Given the description of an element on the screen output the (x, y) to click on. 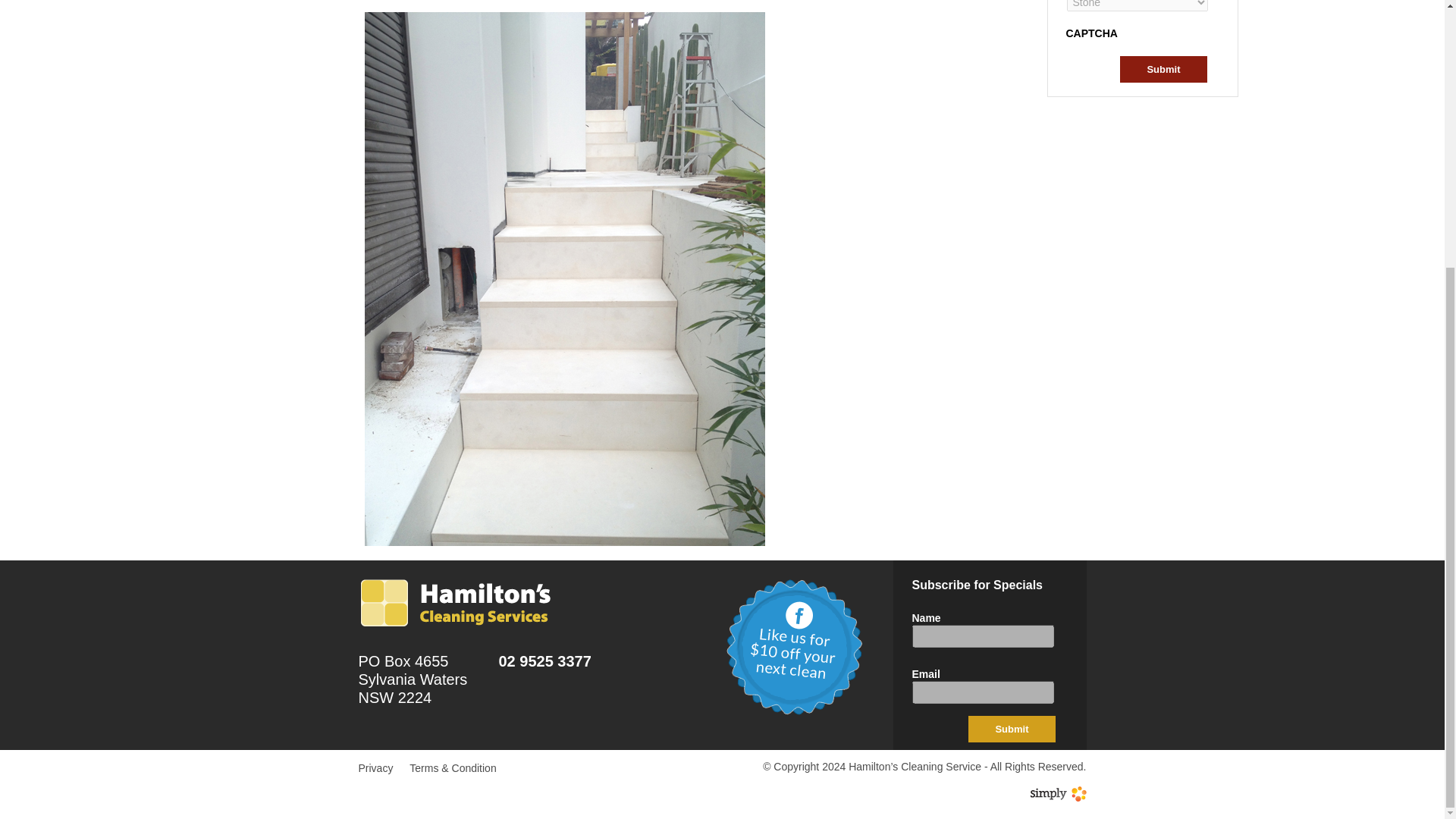
02 9525 3377 (545, 660)
Submit (1011, 728)
Submit (1163, 69)
Submit (1163, 69)
Privacy (375, 767)
Submit (1011, 728)
